Given the description of an element on the screen output the (x, y) to click on. 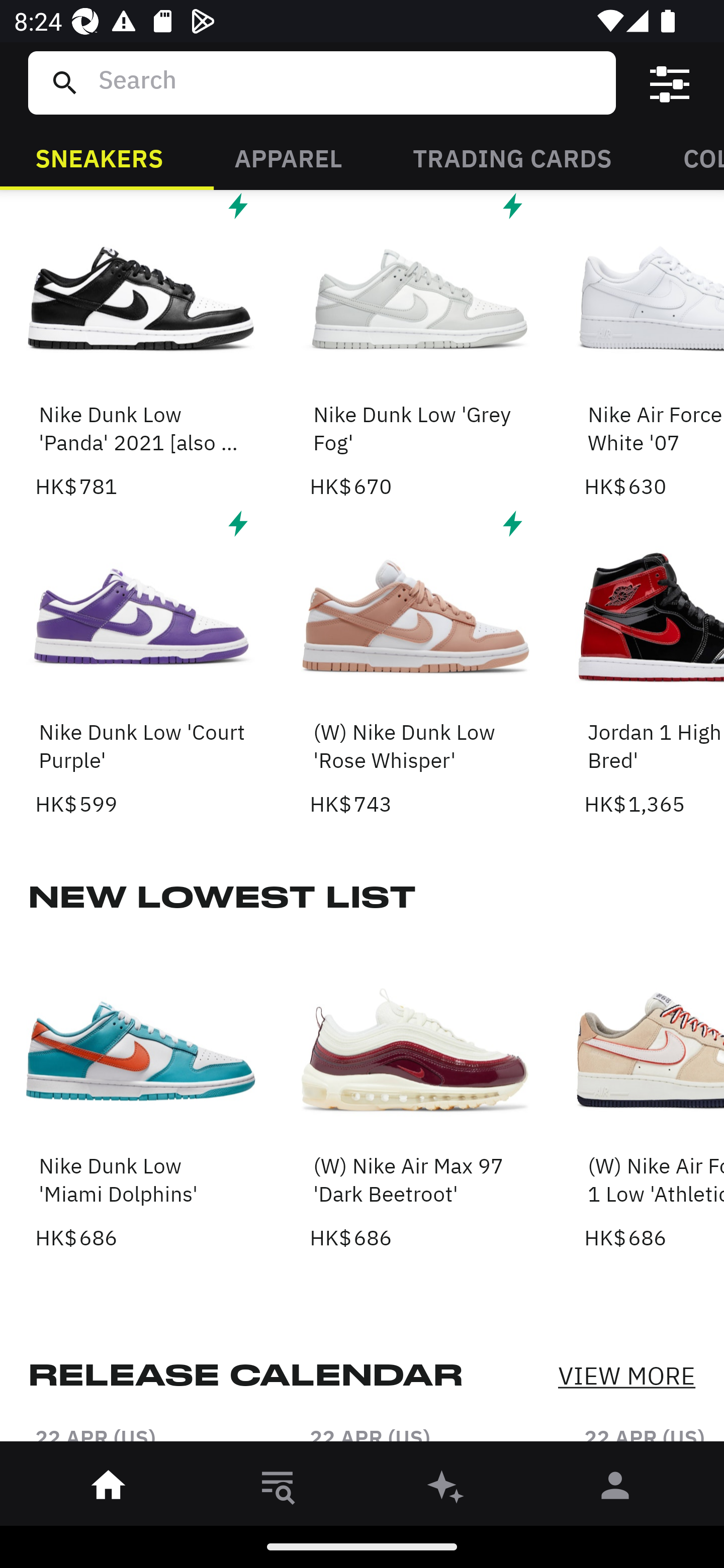
Search (349, 82)
 (669, 82)
SNEAKERS (99, 156)
APPAREL (287, 156)
TRADING CARDS (512, 156)
 Nike Dunk Low 'Grey Fog' HK$ 670 (414, 346)
Nike Air Force 1 Low White '07 HK$ 630 (654, 346)
 Nike Dunk Low 'Court Purple' HK$ 599 (140, 661)
 (W) Nike Dunk Low 'Rose Whisper' HK$ 743 (414, 661)
Jordan 1 High 'Patent Bred' HK$ 1,365 (654, 661)
Nike Dunk Low 'Miami Dolphins' HK$ 686 (140, 1095)
(W) Nike Air Max 97 'Dark Beetroot' HK$ 686 (414, 1095)
VIEW MORE (626, 1374)
󰋜 (108, 1488)
󱎸 (277, 1488)
󰫢 (446, 1488)
󰀄 (615, 1488)
